Given the description of an element on the screen output the (x, y) to click on. 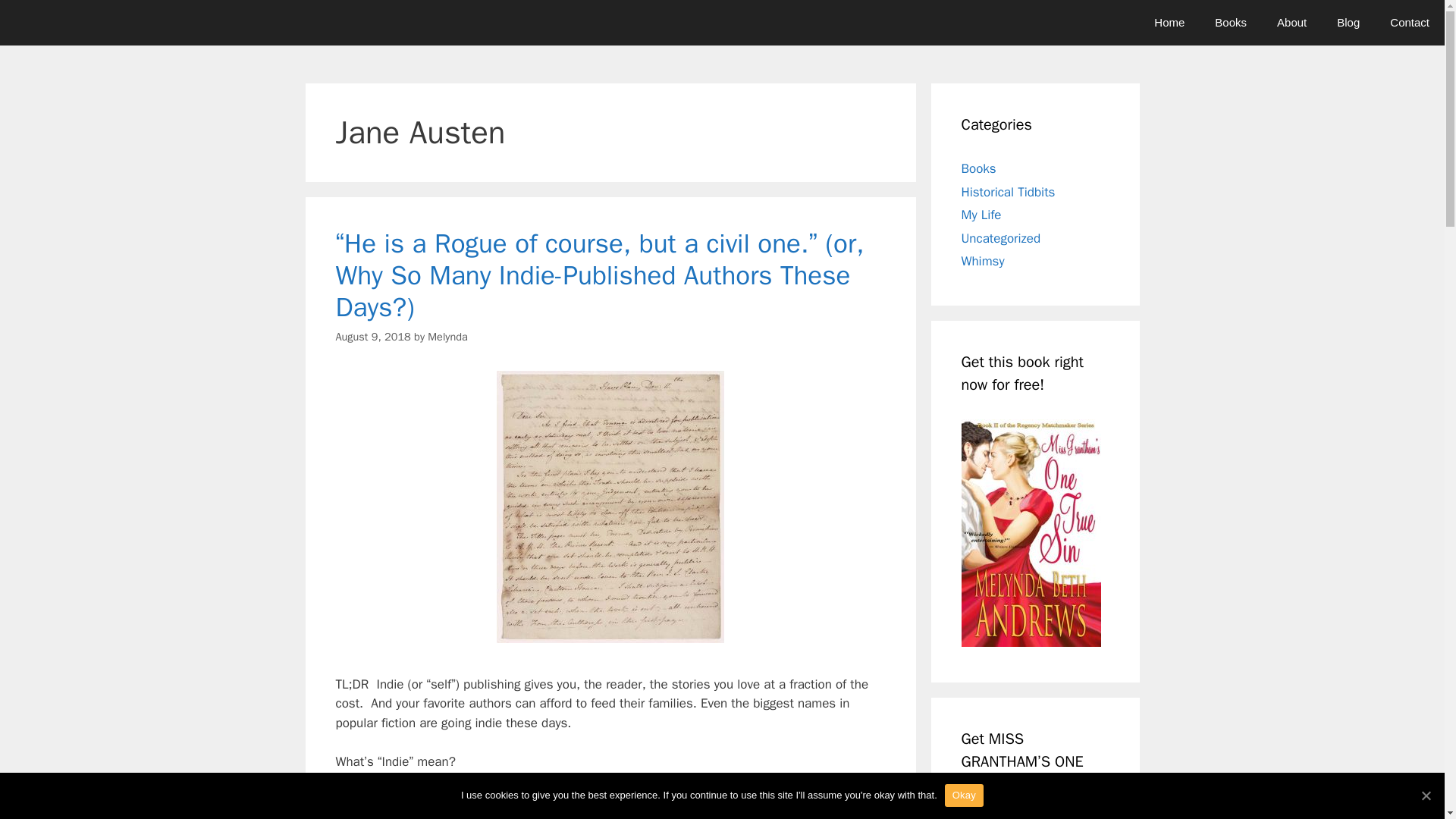
Blog (1348, 22)
Uncategorized (1000, 238)
Home (1168, 22)
Melynda (447, 336)
Historical Tidbits (1007, 191)
Whimsy (982, 261)
Books (1230, 22)
View all posts by Melynda (447, 336)
Books (977, 168)
About (1292, 22)
My Life (980, 214)
